Given the description of an element on the screen output the (x, y) to click on. 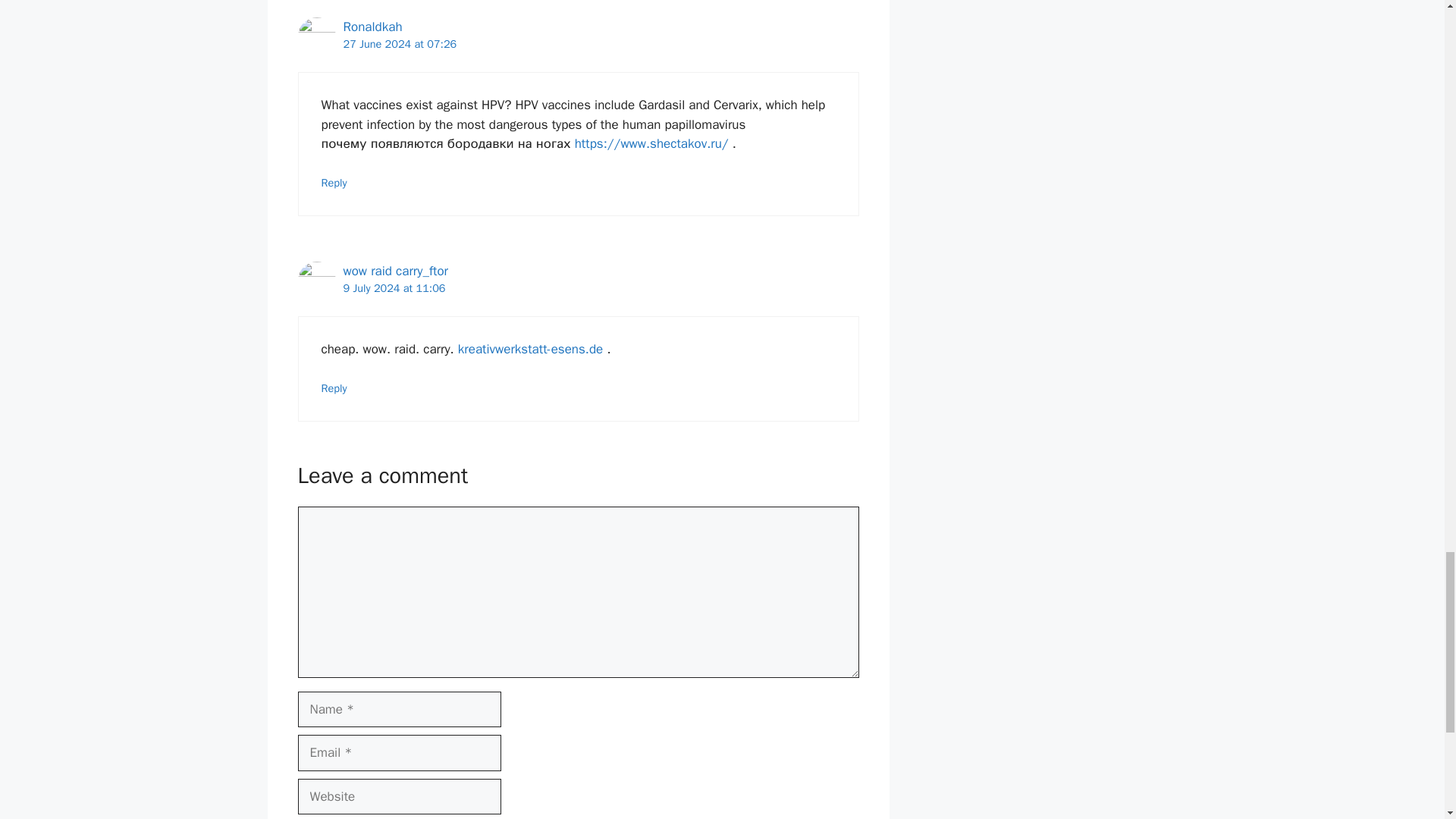
9 July 2024 at 11:06 (393, 287)
kreativwerkstatt-esens.de (530, 349)
27 June 2024 at 07:26 (399, 43)
Reply (334, 387)
Ronaldkah (371, 26)
Reply (334, 182)
